Given the description of an element on the screen output the (x, y) to click on. 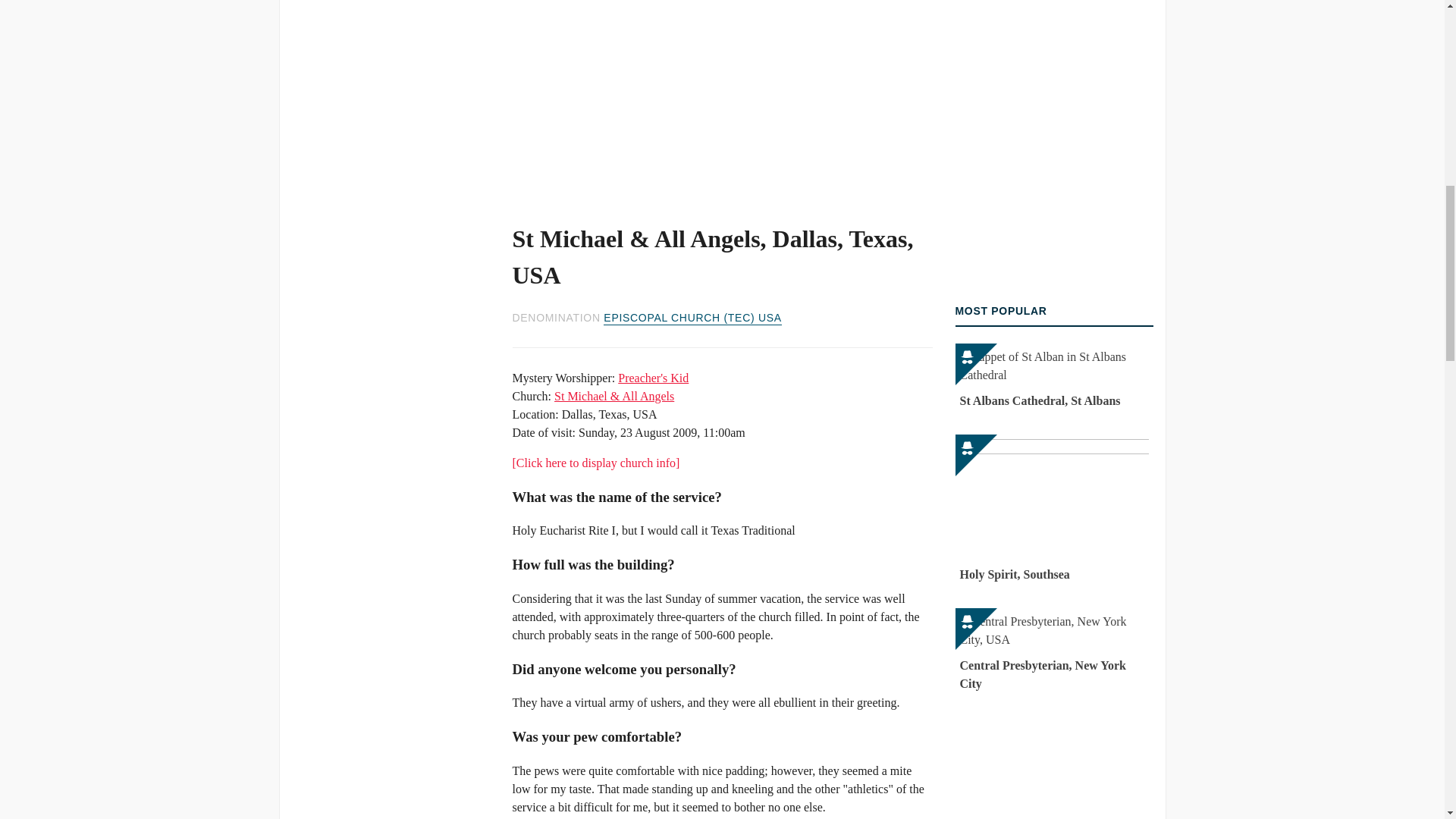
Preacher's Kid (652, 377)
Central Presbyterian, New York City (1054, 652)
Holy Spirit, Southsea (1054, 511)
St Albans Cathedral, St Albans (1054, 378)
Posts by Preacher's Kid (652, 377)
